Given the description of an element on the screen output the (x, y) to click on. 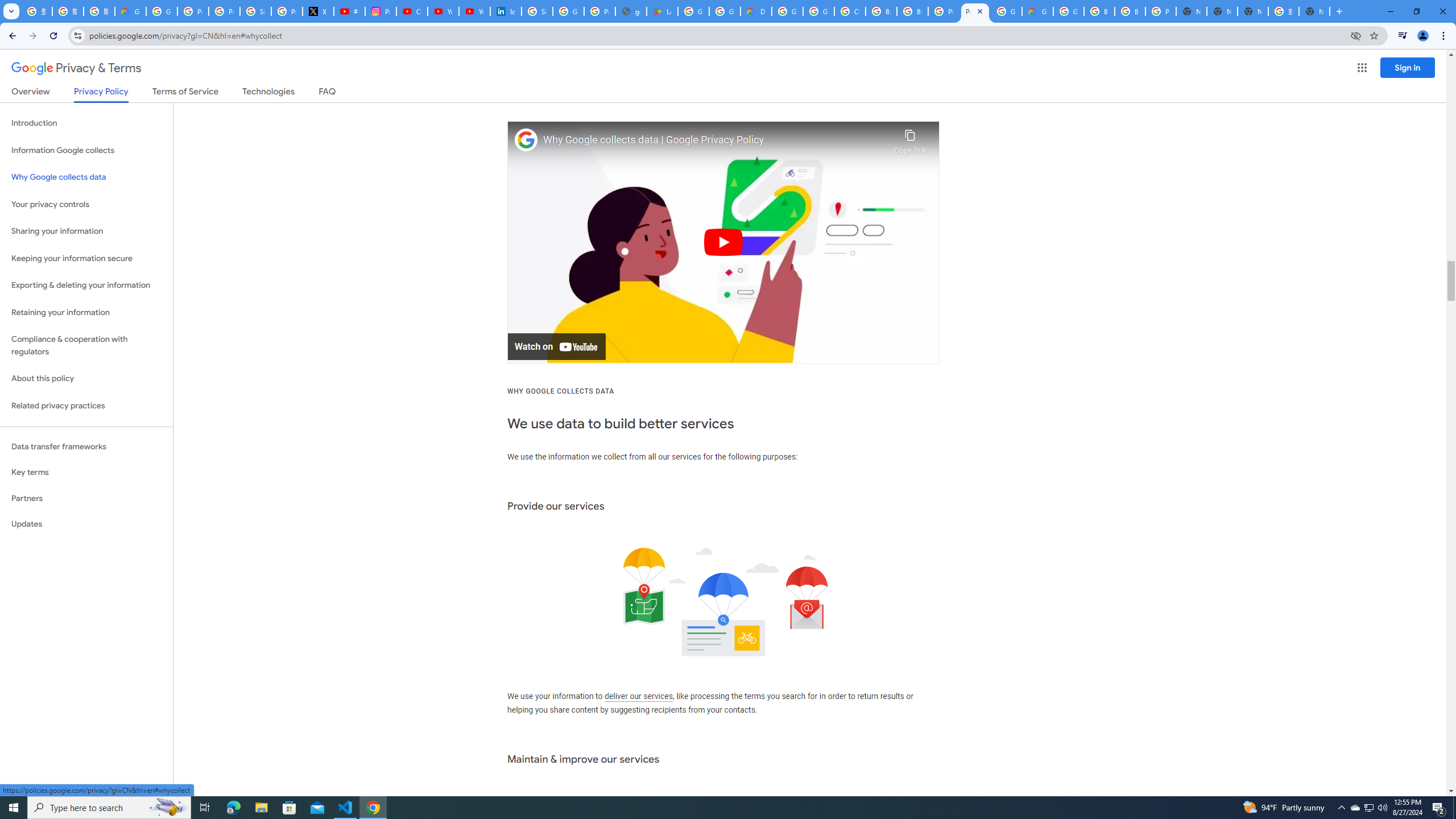
Key terms (86, 472)
Your privacy controls (86, 204)
Last Shelter: Survival - Apps on Google Play (662, 11)
Sign in - Google Accounts (255, 11)
Browse Chrome as a guest - Computer - Google Chrome Help (912, 11)
Privacy & Terms (76, 68)
Photo image of Google (526, 139)
New Tab (1190, 11)
Keeping your information secure (86, 258)
